Given the description of an element on the screen output the (x, y) to click on. 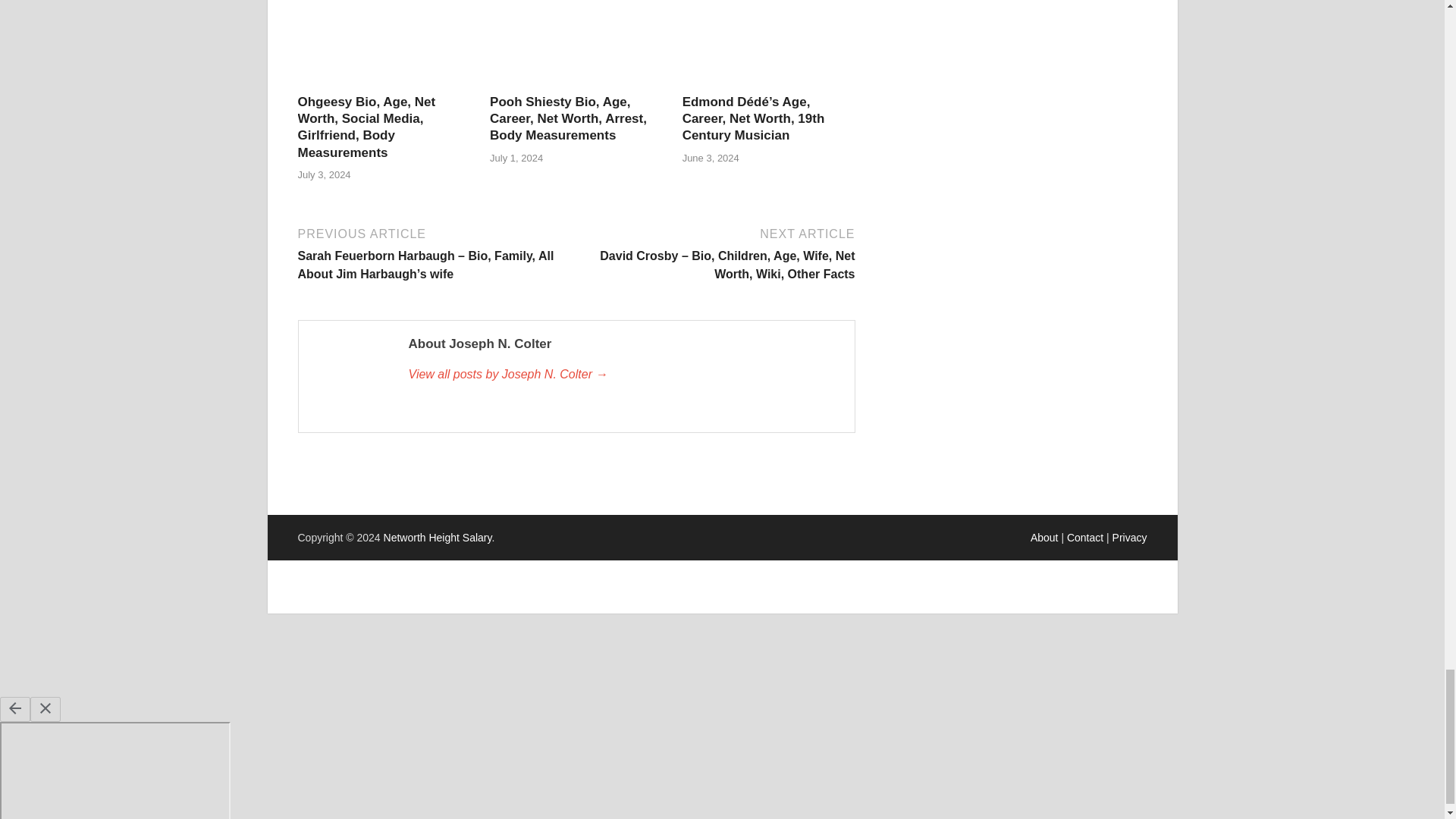
Joseph N. Colter (622, 374)
